Given the description of an element on the screen output the (x, y) to click on. 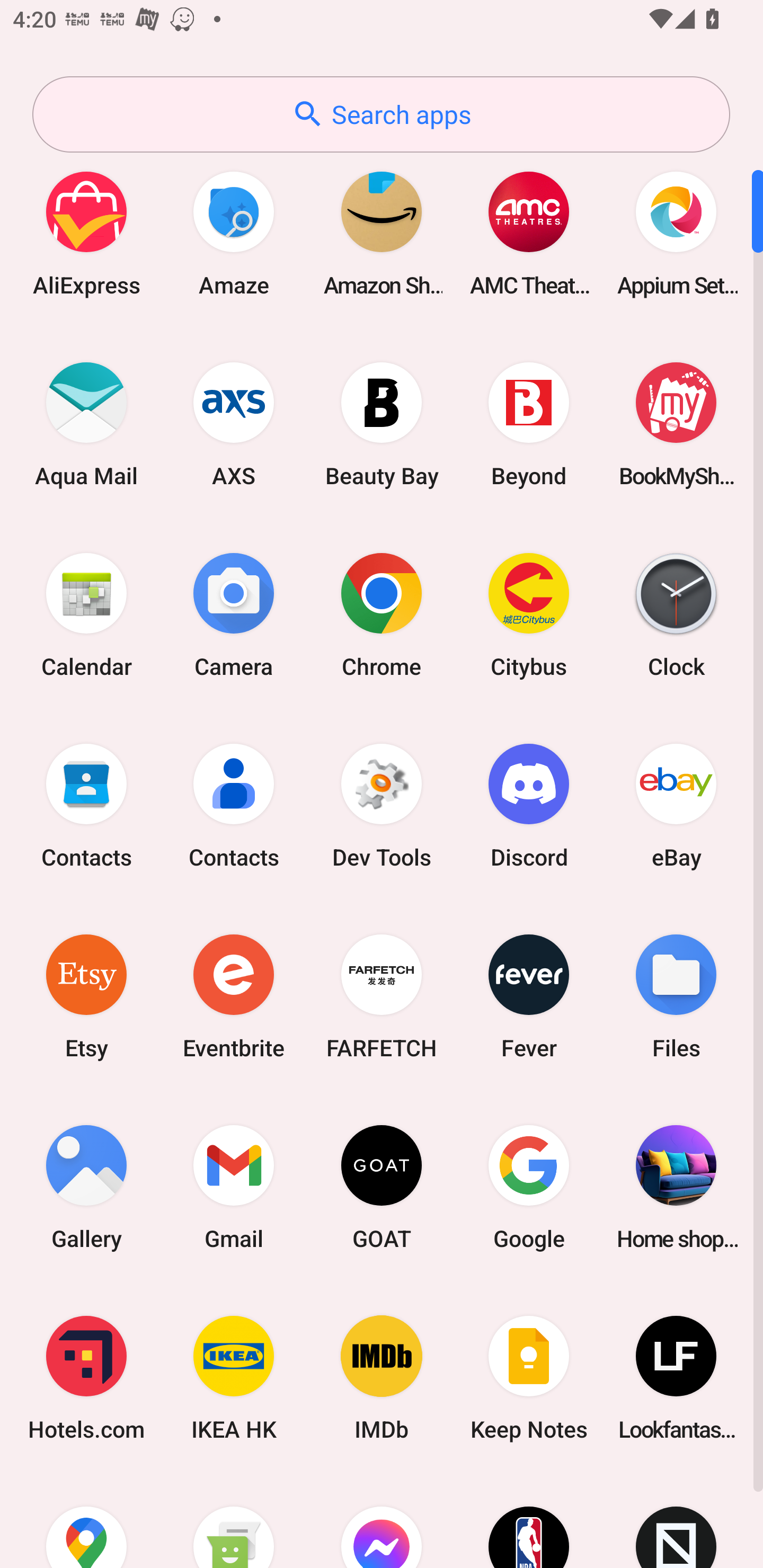
  Search apps (381, 114)
AliExpress (86, 233)
Amaze (233, 233)
Amazon Shopping (381, 233)
AMC Theatres (528, 233)
Appium Settings (676, 233)
Aqua Mail (86, 424)
AXS (233, 424)
Beauty Bay (381, 424)
Beyond (528, 424)
BookMyShow (676, 424)
Calendar (86, 614)
Camera (233, 614)
Chrome (381, 614)
Citybus (528, 614)
Clock (676, 614)
Contacts (86, 805)
Contacts (233, 805)
Dev Tools (381, 805)
Discord (528, 805)
eBay (676, 805)
Etsy (86, 996)
Eventbrite (233, 996)
FARFETCH (381, 996)
Fever (528, 996)
Files (676, 996)
Gallery (86, 1186)
Gmail (233, 1186)
GOAT (381, 1186)
Google (528, 1186)
Home shopping (676, 1186)
Hotels.com (86, 1377)
IKEA HK (233, 1377)
IMDb (381, 1377)
Keep Notes (528, 1377)
Lookfantastic (676, 1377)
Maps (86, 1520)
Messaging (233, 1520)
Messenger (381, 1520)
NBA (528, 1520)
Novelship (676, 1520)
